Given the description of an element on the screen output the (x, y) to click on. 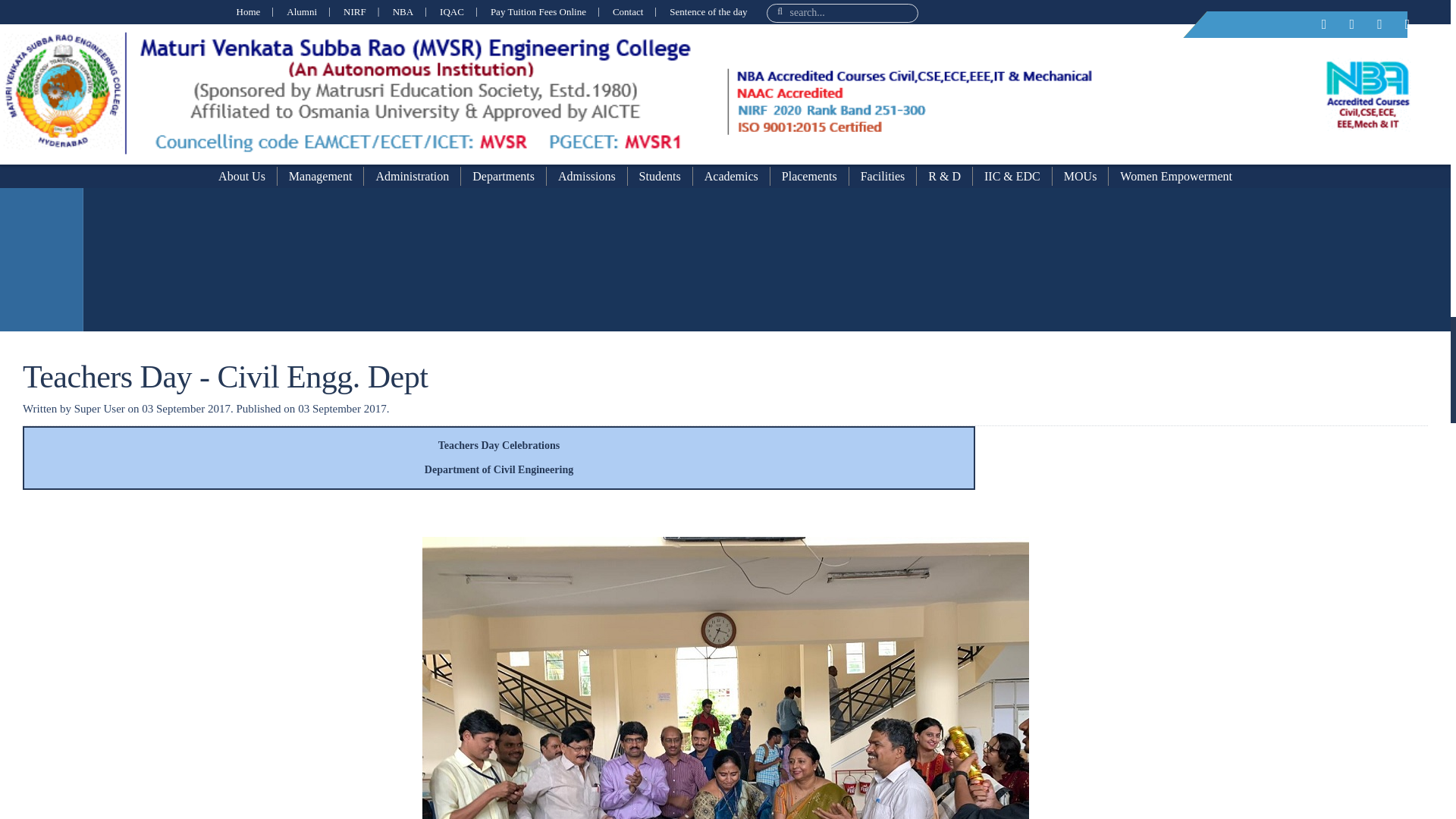
Teachers Day - Civil Engg. Dept (225, 376)
